Given the description of an element on the screen output the (x, y) to click on. 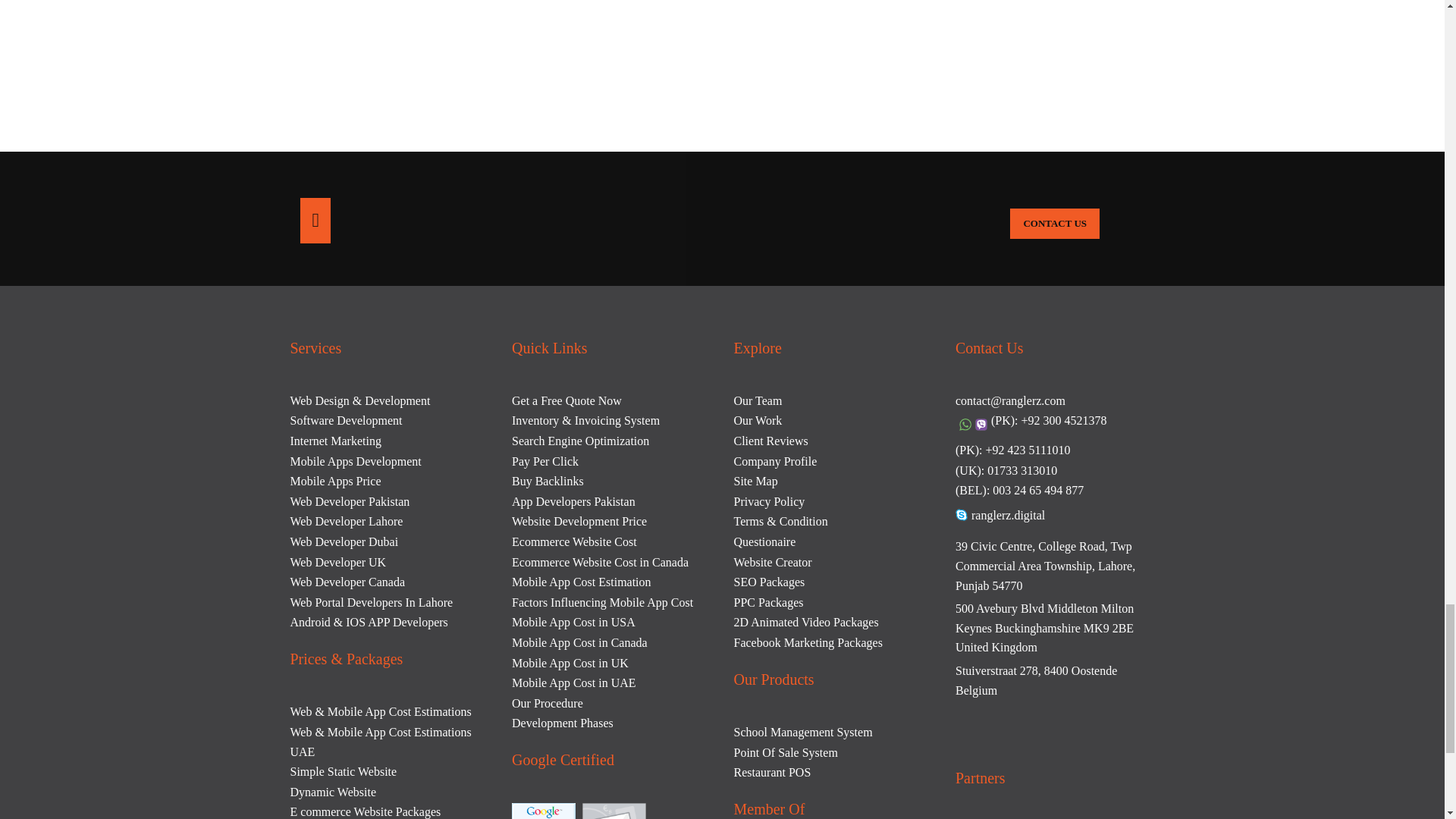
Web Developer Dubai (343, 541)
Web Developer Canada (346, 581)
Software Development (345, 420)
CONTACT US (1054, 223)
Web Portal Developers In Lahore (370, 602)
Web Developer UK (337, 562)
Web Developer Pakistan (349, 501)
Web Developer Lahore (346, 521)
Internet Marketing (334, 440)
Mobile Apps Development (354, 461)
